Given the description of an element on the screen output the (x, y) to click on. 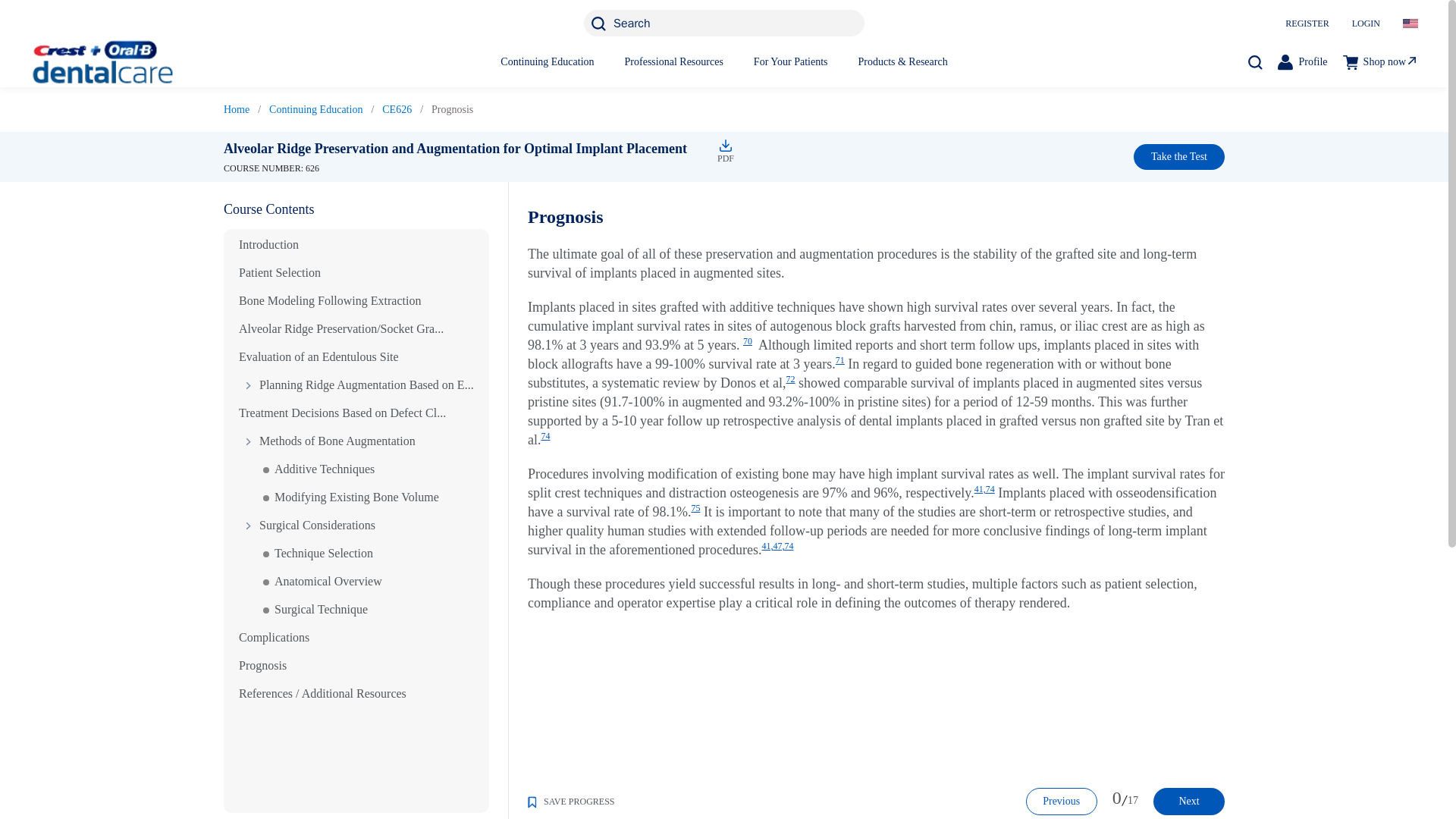
Patient Selection (279, 272)
Profile (1302, 61)
Surgical Considerations (306, 524)
Anatomical Overview (317, 581)
CE626 (396, 109)
Evaluation of an Edentulous Site (318, 356)
For Your Patients (791, 61)
PDF (723, 145)
Prognosis (262, 665)
Home (236, 109)
